Given the description of an element on the screen output the (x, y) to click on. 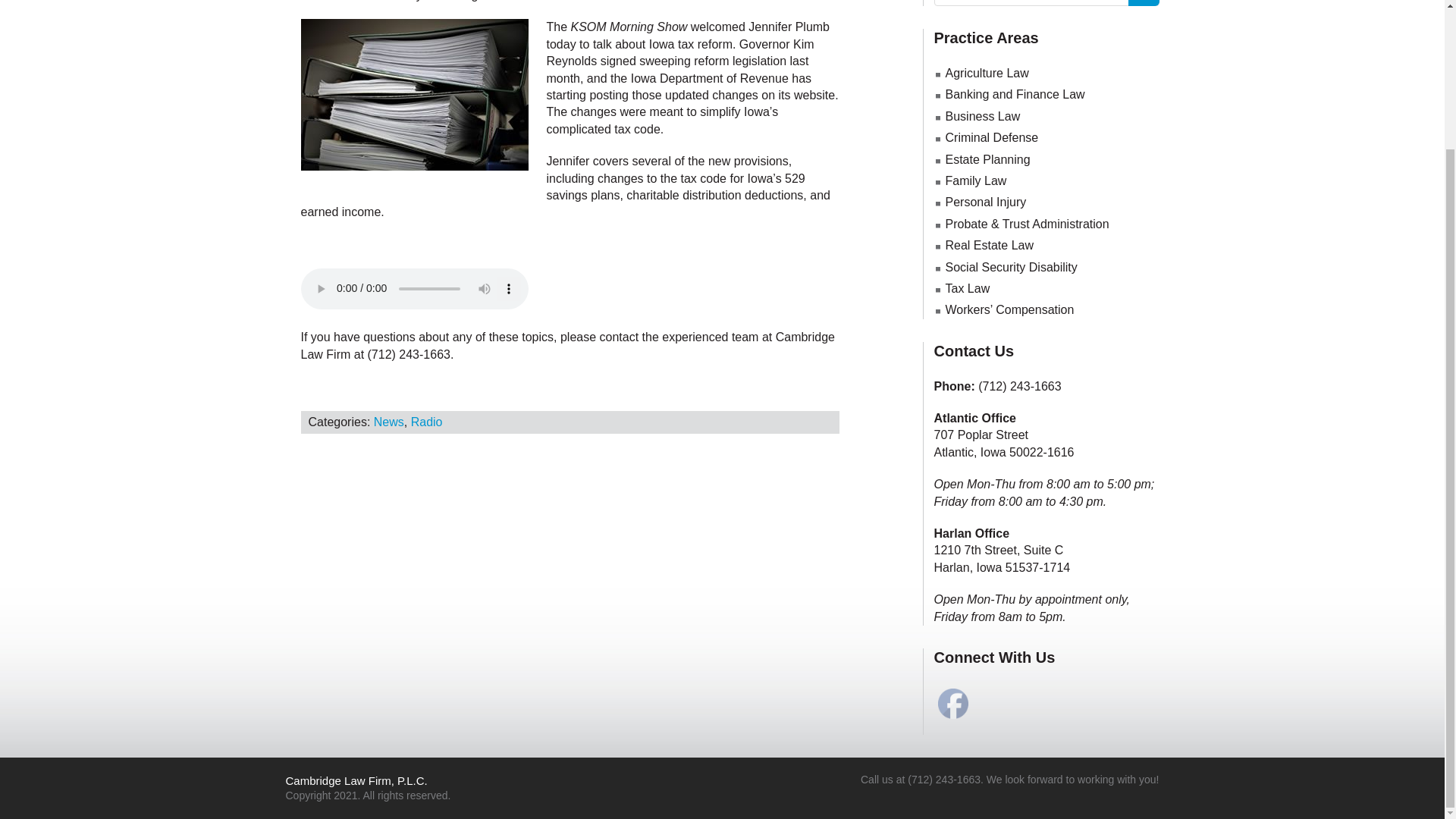
Banking and Finance Law (1014, 93)
Business Law (982, 115)
GO (1143, 2)
Social Security Disability (1010, 267)
Real Estate Law (988, 245)
Agriculture Law (985, 72)
Tax Law (967, 287)
Radio (426, 421)
Facebook (952, 703)
Cambridge Law Firm (481, 0)
Estate Planning (986, 159)
News (389, 421)
Personal Injury (985, 201)
GO (1143, 2)
Family Law (975, 180)
